Given the description of an element on the screen output the (x, y) to click on. 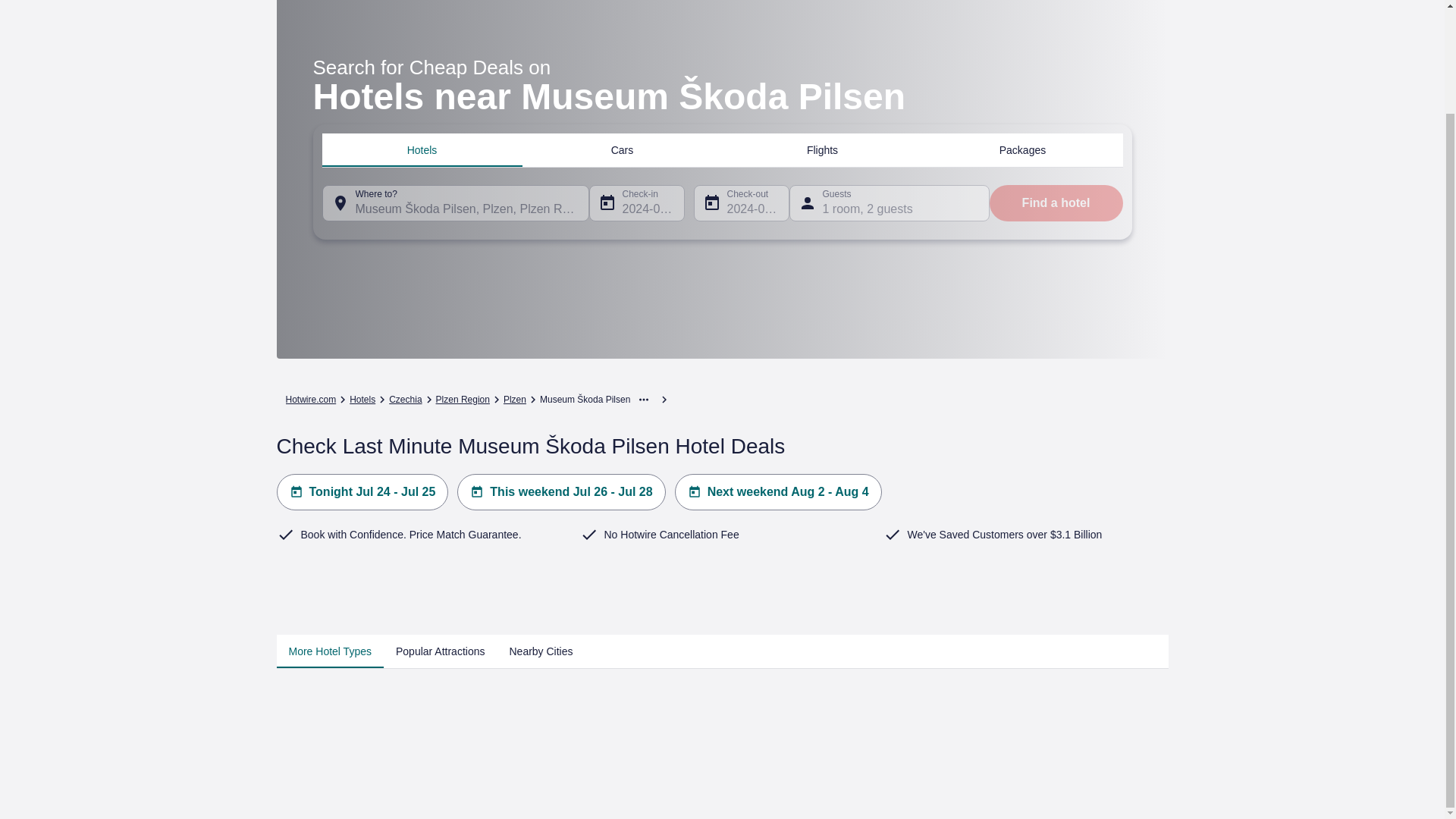
2024-07-25 (741, 202)
Czechia (405, 399)
2024-07-24 (636, 202)
Plzen (514, 399)
Next weekend Aug 2 - Aug 4 (778, 492)
Popular Attractions (440, 651)
Hotels (362, 399)
1 room, 2 guests (888, 202)
Hotels (421, 149)
Find a hotel (1055, 202)
This weekend Jul 26 - Jul 28 (561, 492)
